Given the description of an element on the screen output the (x, y) to click on. 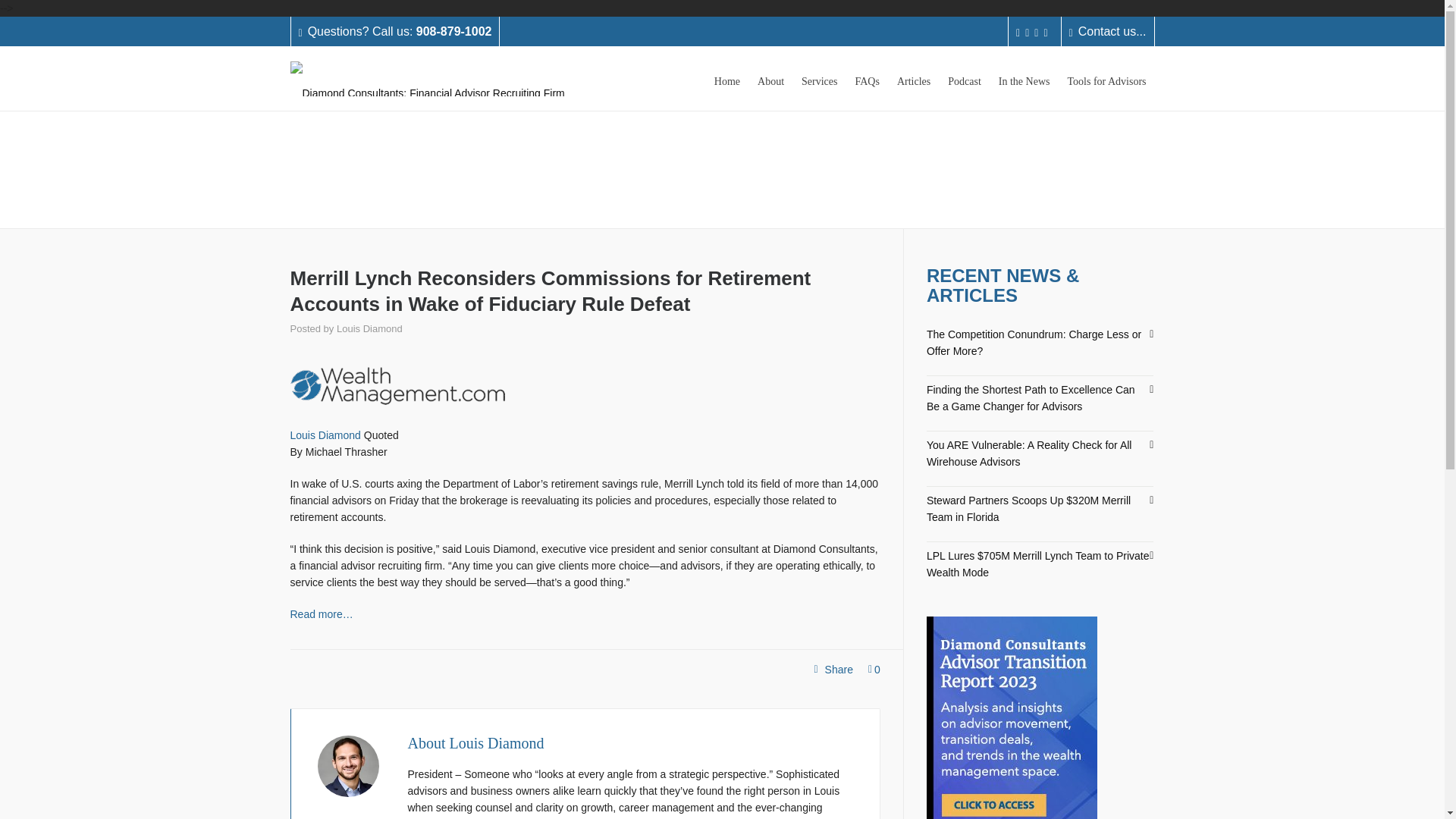
About (369, 328)
Home (770, 78)
Contact us... (727, 78)
